Given the description of an element on the screen output the (x, y) to click on. 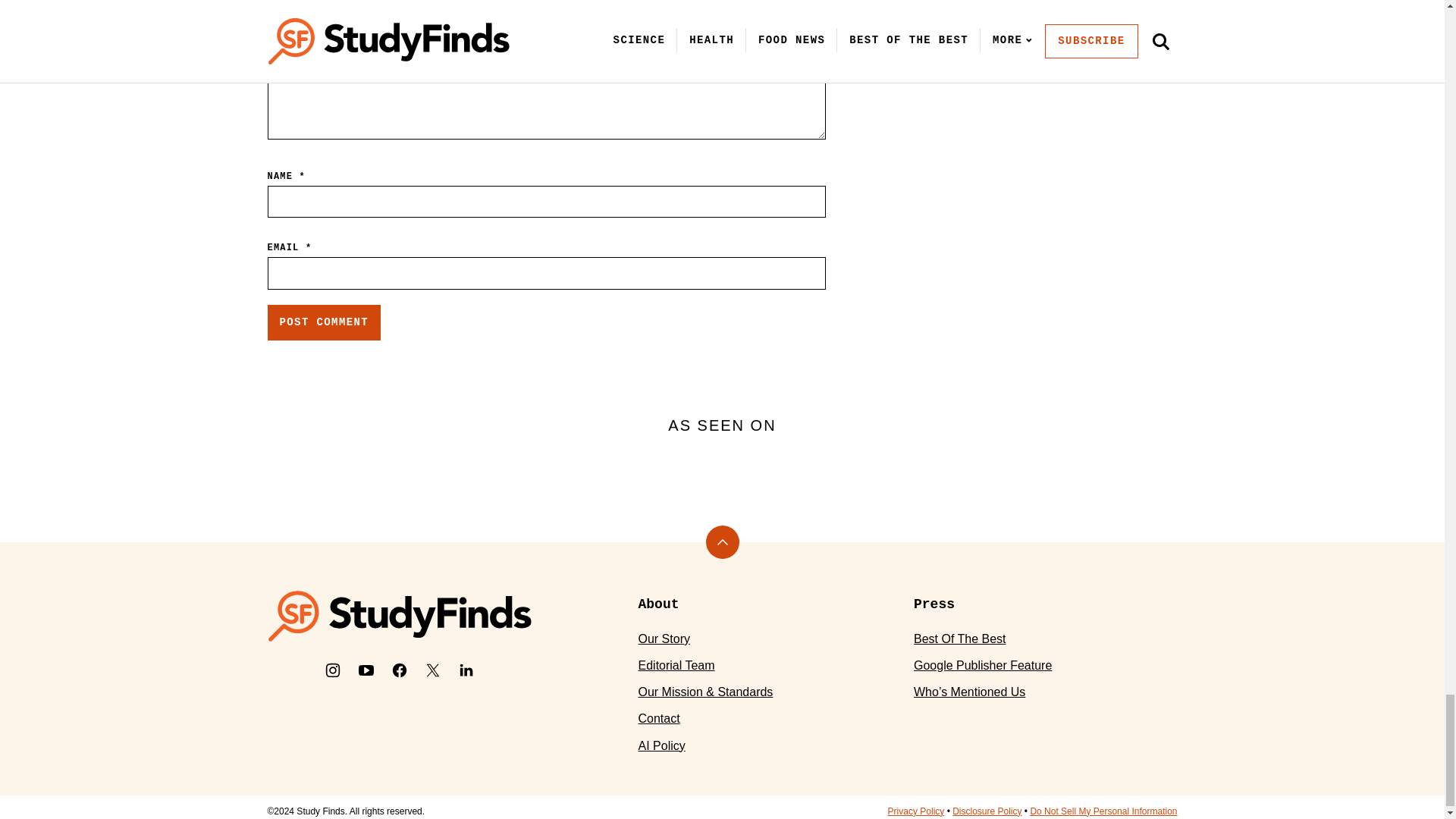
Post Comment (323, 322)
